Given the description of an element on the screen output the (x, y) to click on. 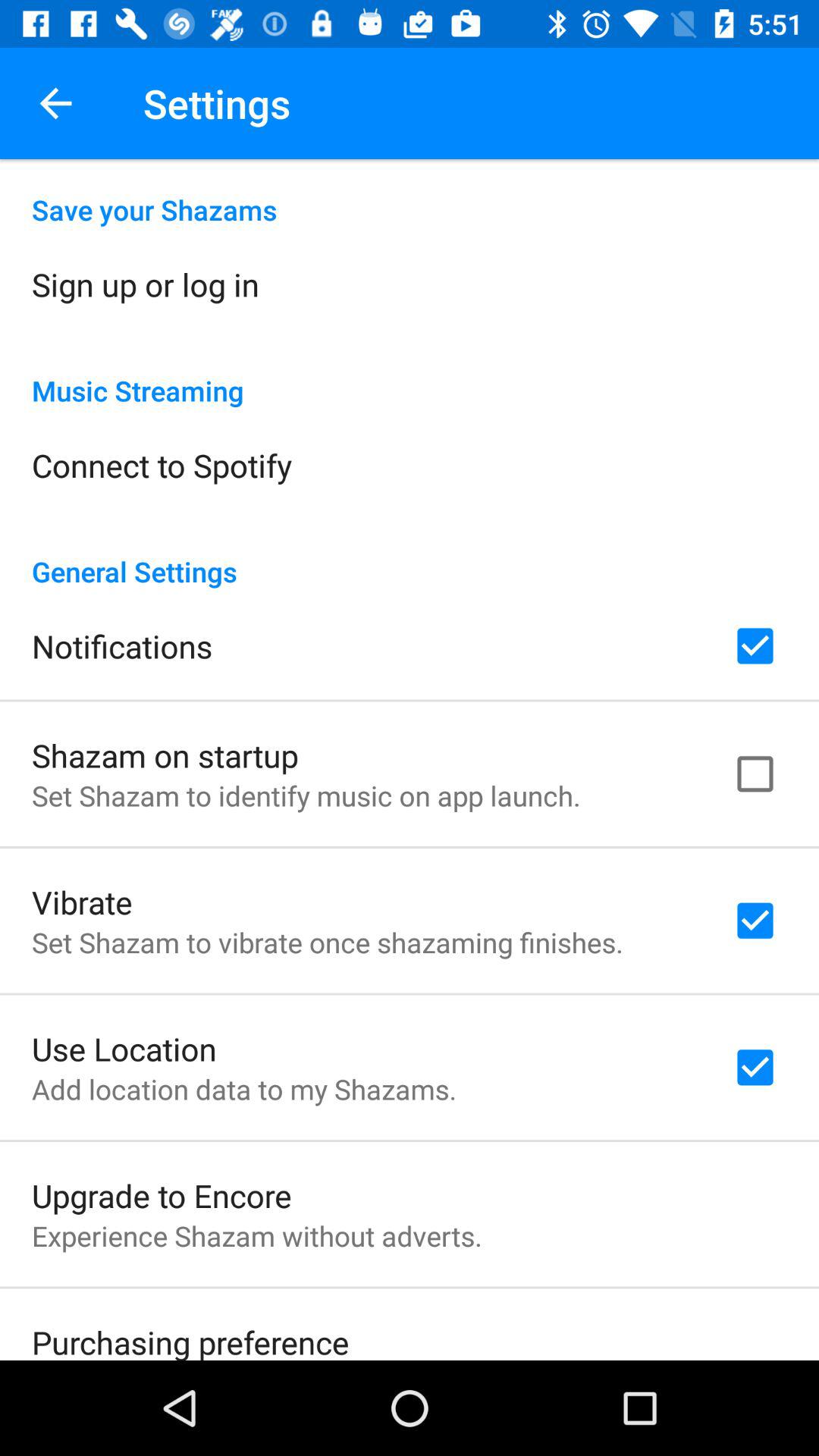
flip to the save your shazams (409, 193)
